Given the description of an element on the screen output the (x, y) to click on. 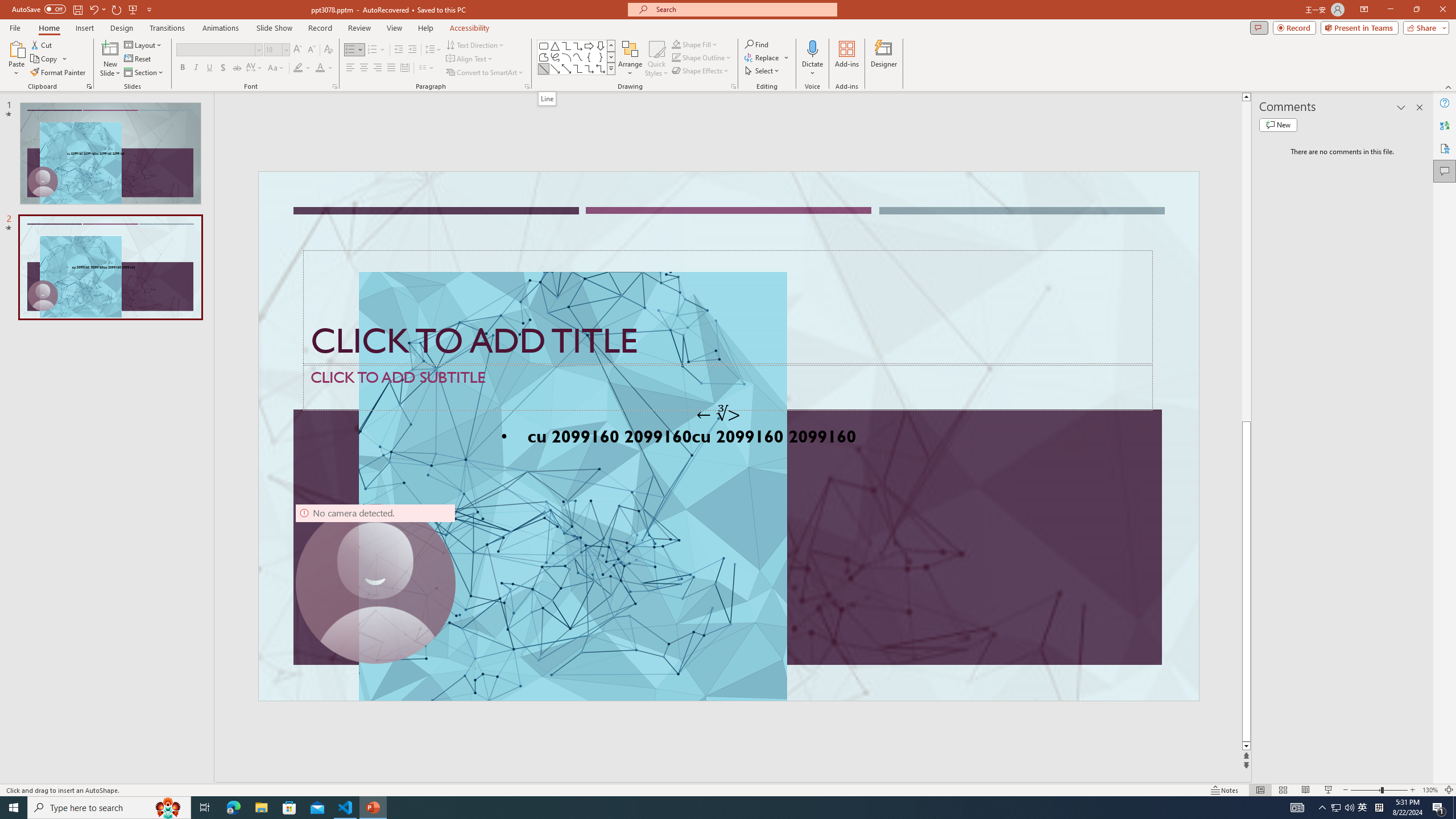
remote (69, 766)
Problems (Ctrl+Shift+M) (323, 533)
Extensions (Ctrl+Shift+X) (76, 397)
Notebook (616, 114)
No Problems (121, 766)
